Given the description of an element on the screen output the (x, y) to click on. 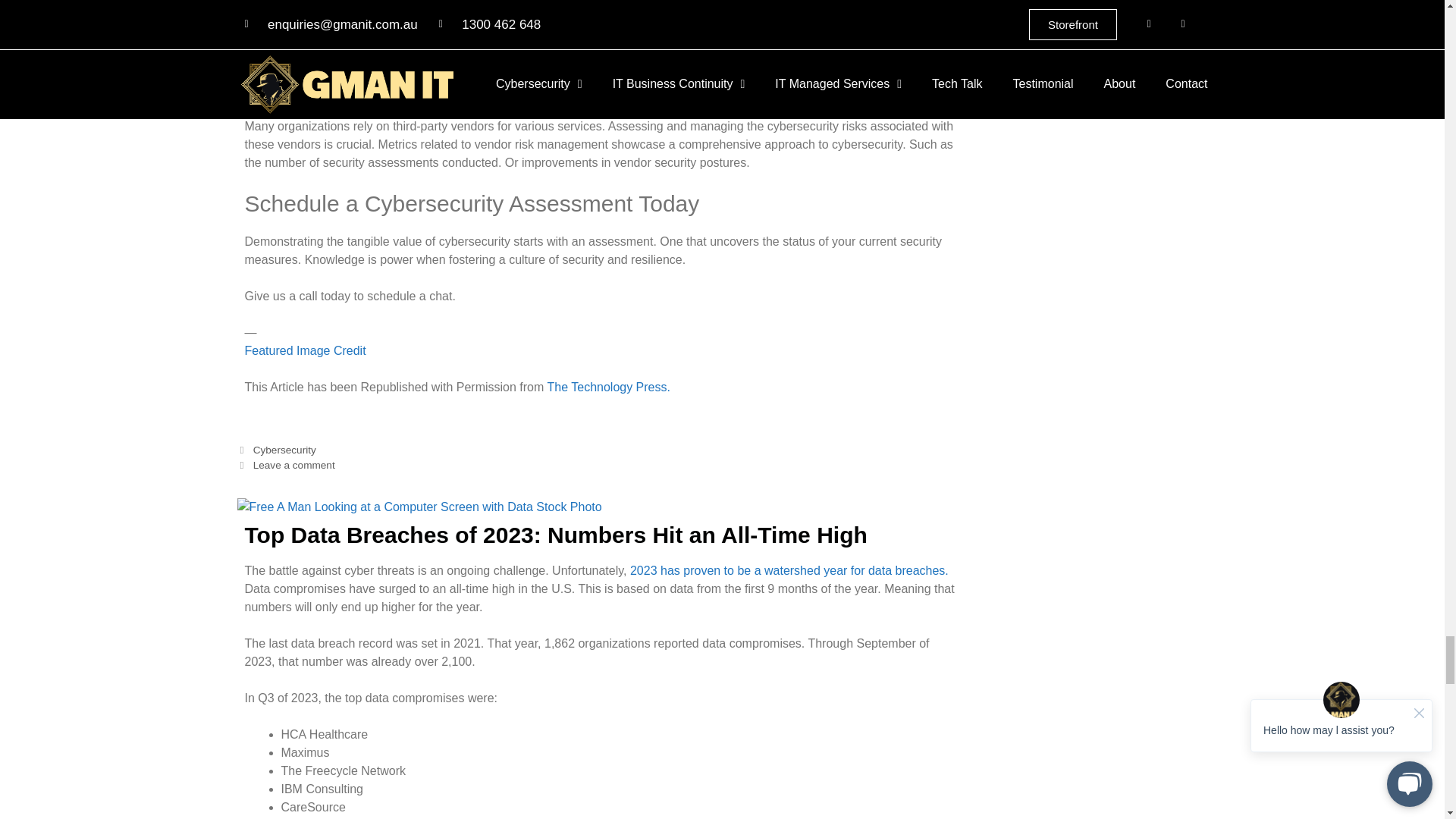
Need to Show the Tangible Value of Cybersecurity? Here's How (608, 386)
